Given the description of an element on the screen output the (x, y) to click on. 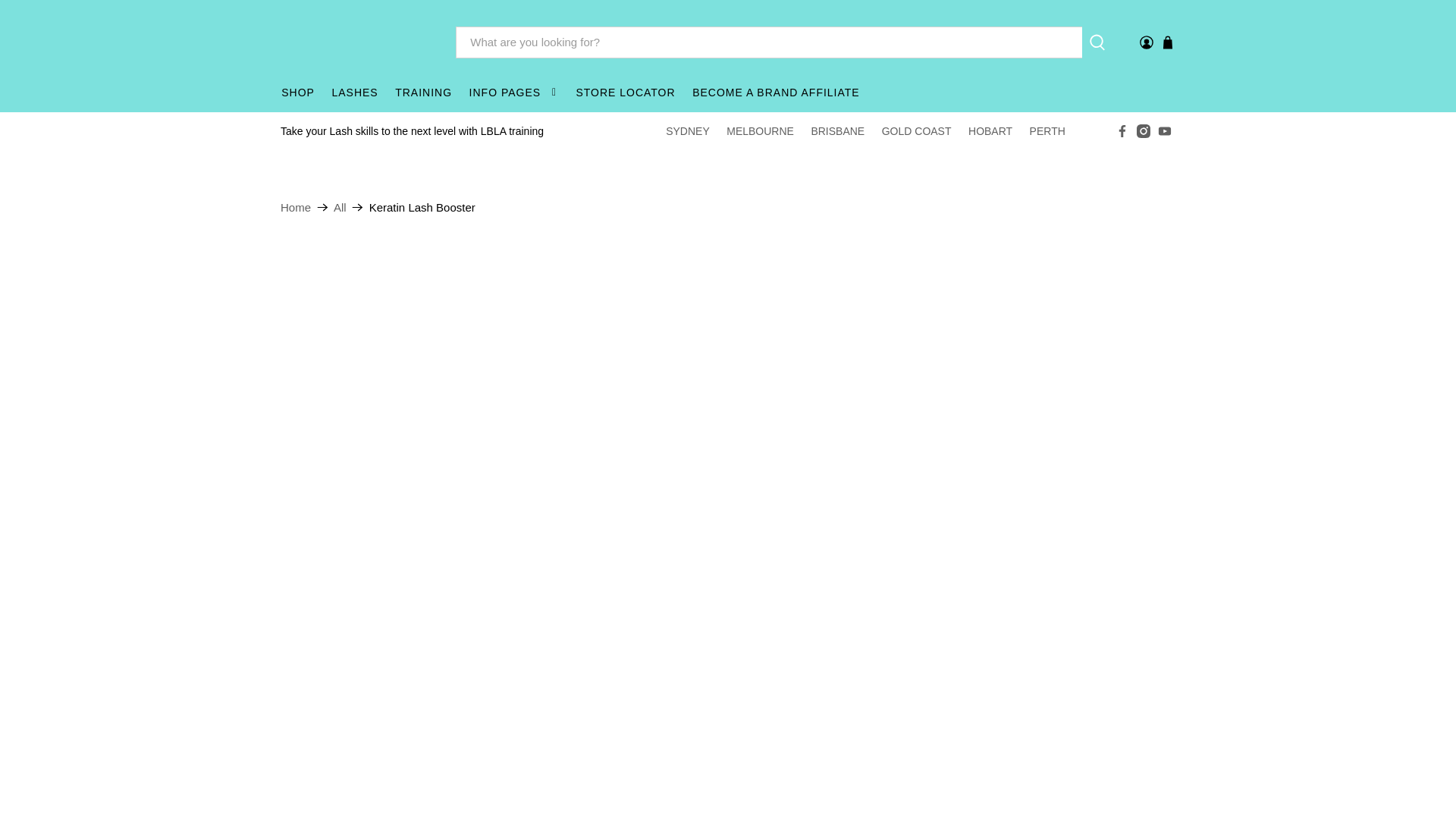
SHOP (298, 92)
LASHES (355, 92)
LashBox LA Australia on Facebook (1122, 131)
LashBox LA Australia (296, 206)
STORE LOCATOR (625, 92)
INFO PAGES (513, 92)
LashBox LA Australia on Instagram (1143, 131)
BECOME A BRAND AFFILIATE (775, 92)
LashBox LA Australia on YouTube (1164, 131)
LashBox LA Australia (356, 41)
